Given the description of an element on the screen output the (x, y) to click on. 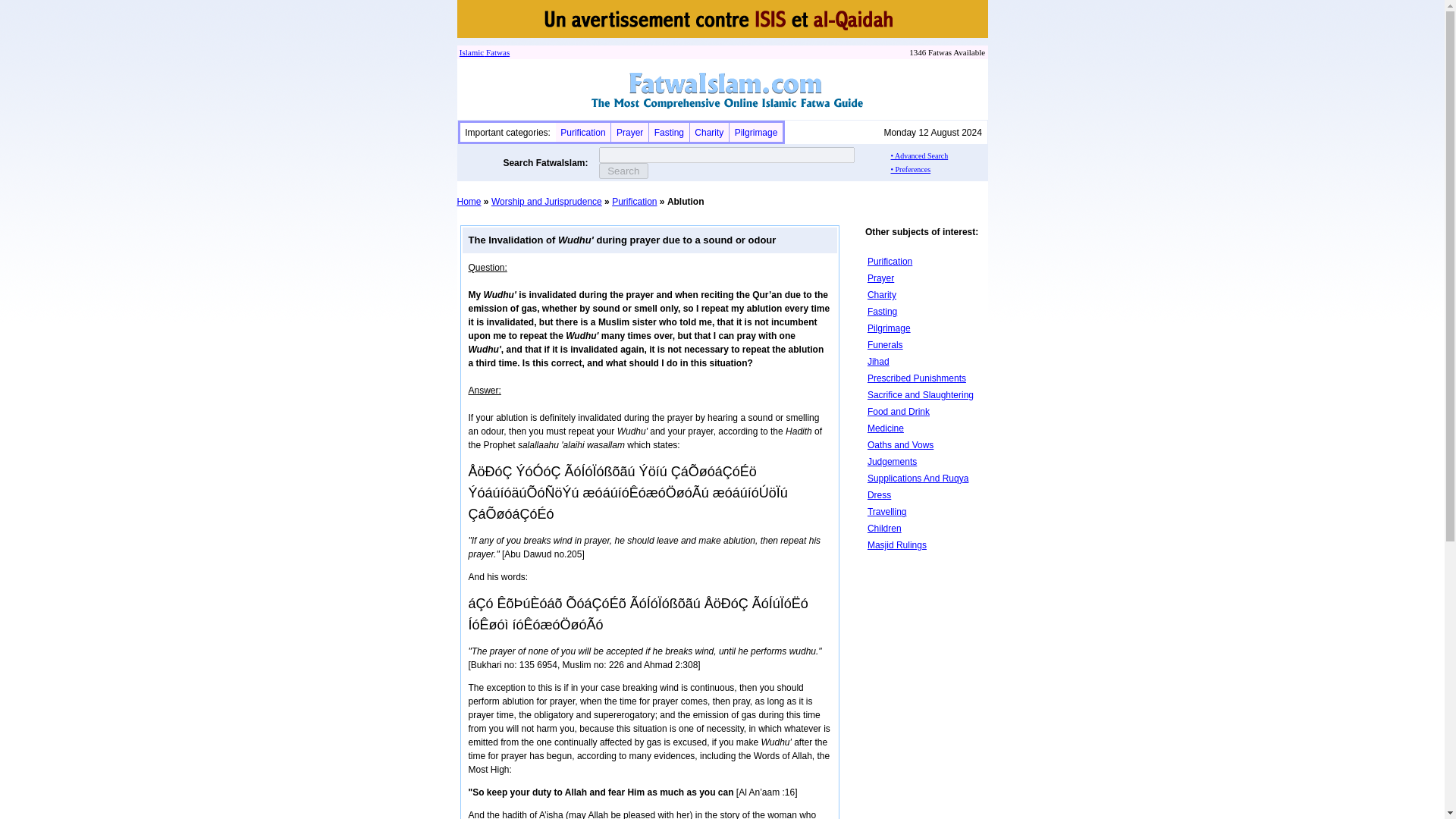
Oaths and Vows (900, 444)
Charity (881, 294)
Supplications And Ruqya (917, 478)
Medicine (885, 428)
Purification (582, 132)
Pilgrimage (756, 132)
Charity (708, 132)
 Fatwa (494, 51)
 Search  (623, 170)
Masjid Rulings (896, 544)
